Given the description of an element on the screen output the (x, y) to click on. 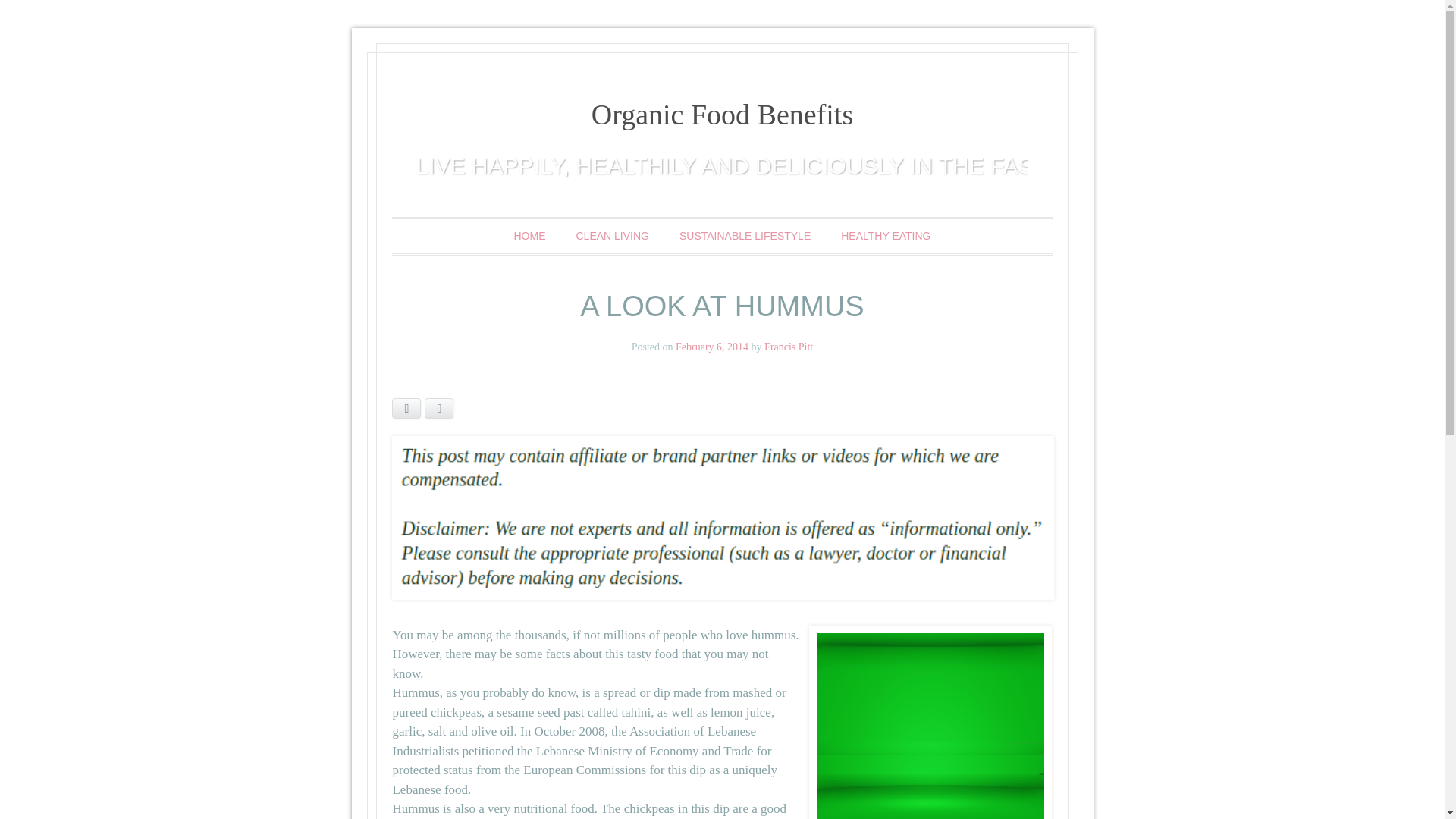
Organic Food Benefits (722, 114)
HEALTHY EATING (884, 236)
CLEAN LIVING (612, 236)
February 6, 2014 (711, 346)
Share this article on Facebook (405, 408)
HOME (529, 236)
Francis Pitt (788, 346)
SKIP TO CONTENT (454, 236)
Share this article on X (438, 408)
4:00 pm (711, 346)
SUSTAINABLE LIFESTYLE (744, 236)
View all posts by Francis Pitt (788, 346)
Skip to content (454, 236)
Organic Food Benefits (722, 114)
